Given the description of an element on the screen output the (x, y) to click on. 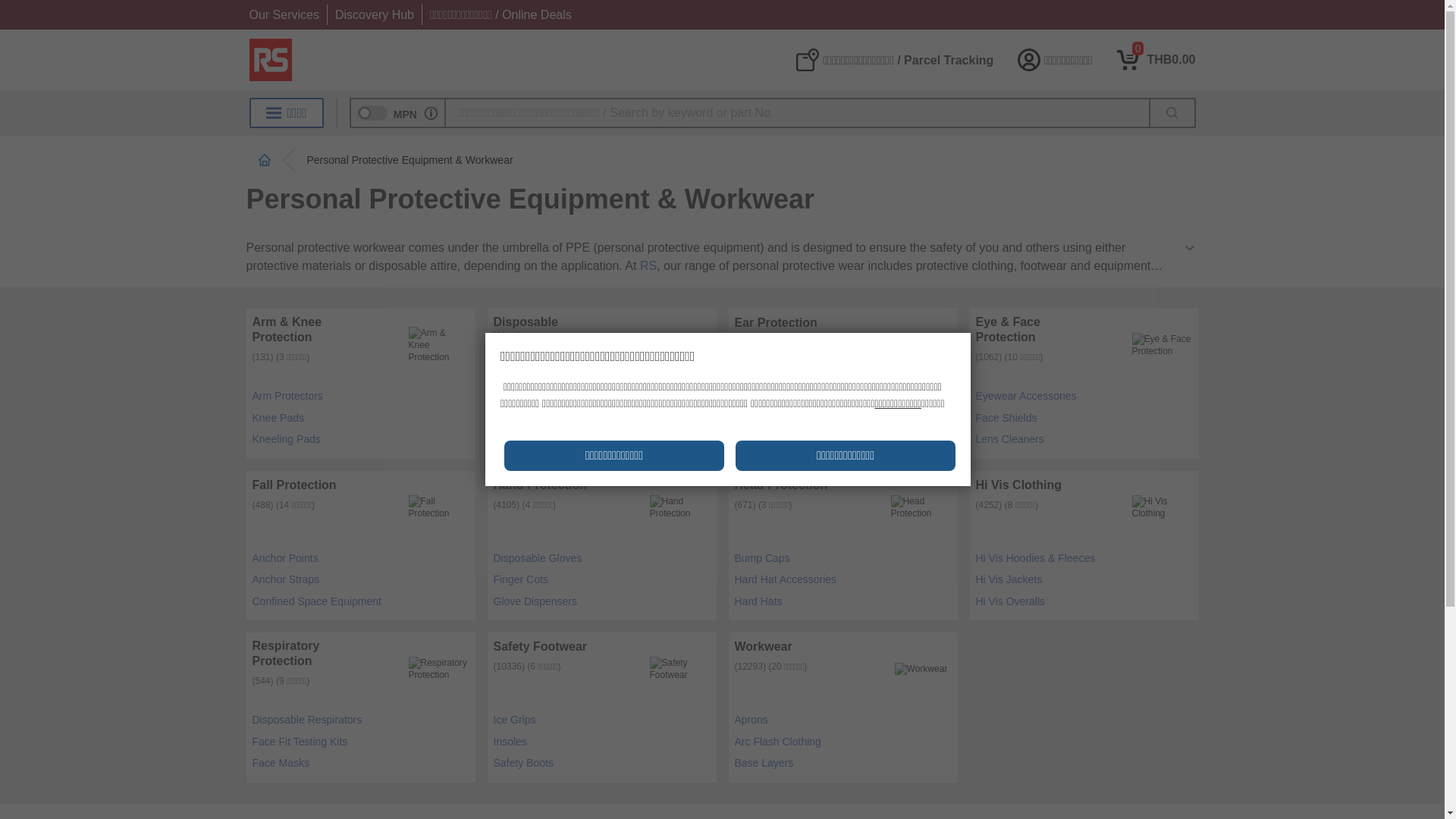
0 (1155, 59)
Discovery Hub (1155, 59)
Our Services (373, 14)
